Given the description of an element on the screen output the (x, y) to click on. 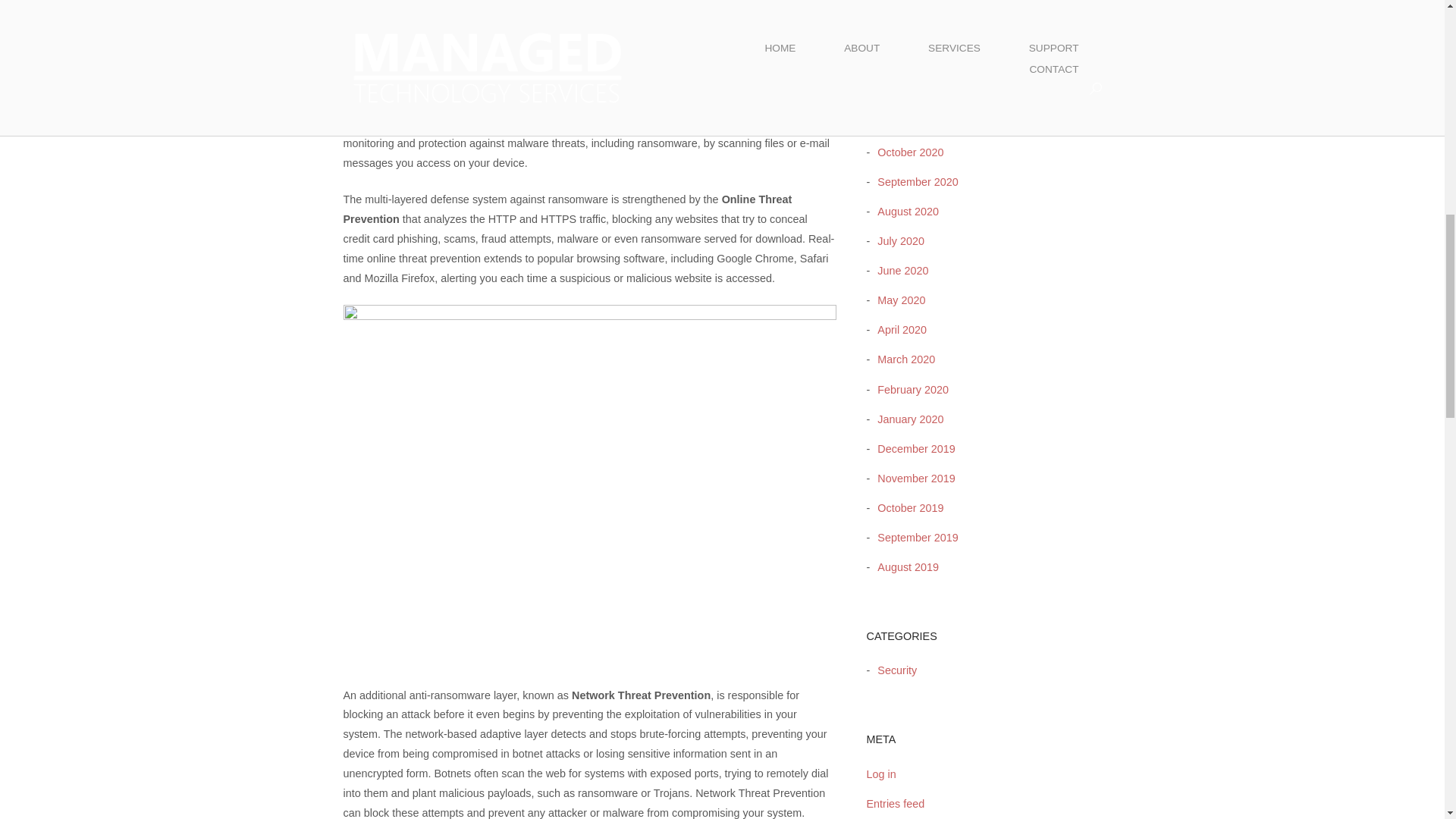
November 2020 (912, 122)
March 2021 (901, 5)
December 2020 (912, 92)
February 2021 (909, 33)
January 2021 (906, 63)
